Given the description of an element on the screen output the (x, y) to click on. 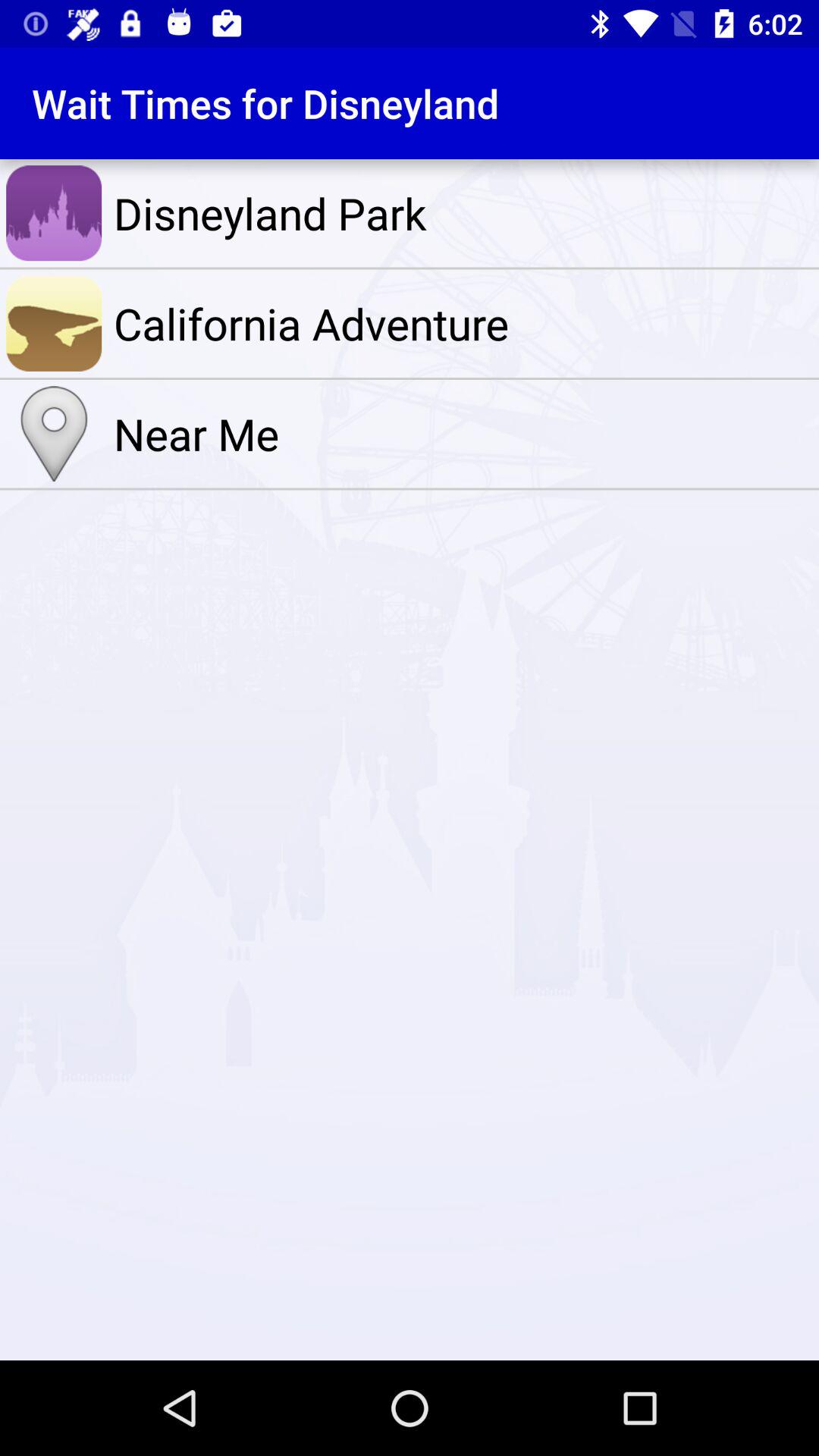
select the item above the near me item (462, 323)
